Given the description of an element on the screen output the (x, y) to click on. 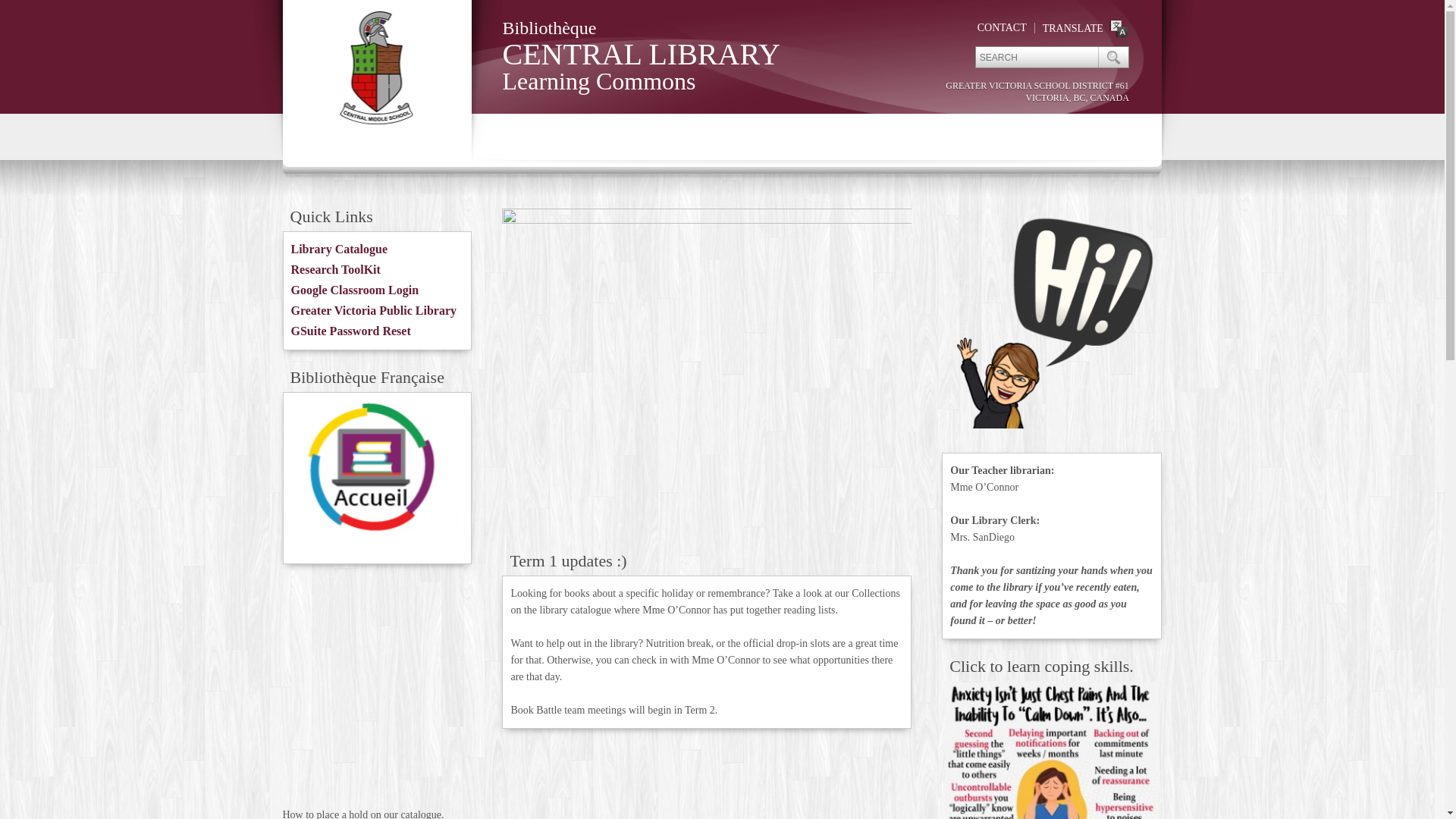
Google Classroom Login Element type: text (355, 289)
GSuite Password Reset Element type: text (351, 330)
Research ToolKit Element type: text (335, 269)
Greater Victoria Public Library Element type: text (373, 310)
  Element type: text (1112, 57)
CONTACT Element type: text (1001, 27)
Place a Hold with Destiny Discover Element type: hover (376, 689)
Library Catalogue Element type: text (339, 248)
